Given the description of an element on the screen output the (x, y) to click on. 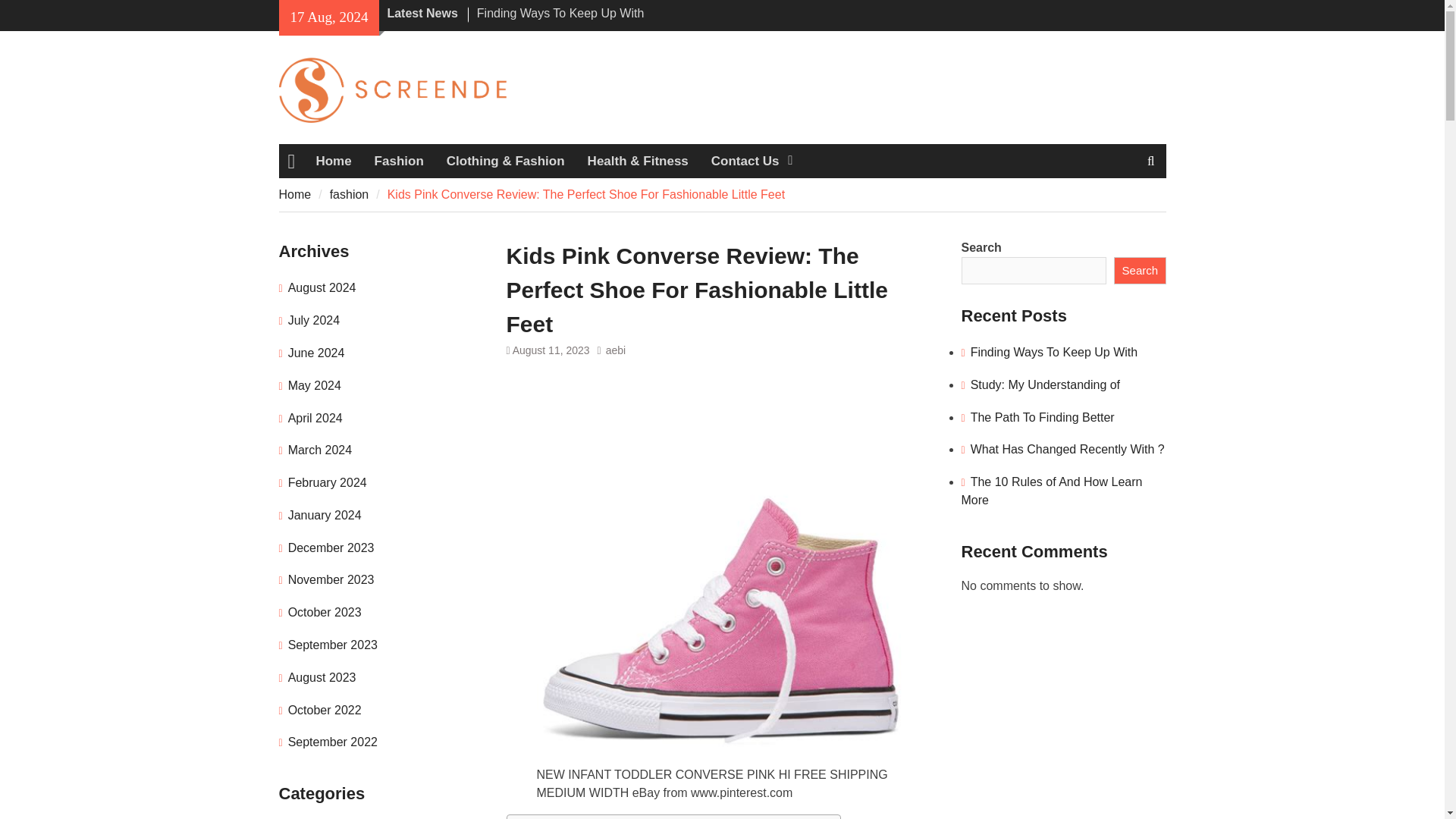
fashion (349, 194)
Finding Ways To Keep Up With (561, 12)
August 11, 2023 (550, 349)
aebi (615, 349)
Home (295, 194)
Fashion (398, 161)
Home (333, 161)
Contact Us (751, 161)
